Given the description of an element on the screen output the (x, y) to click on. 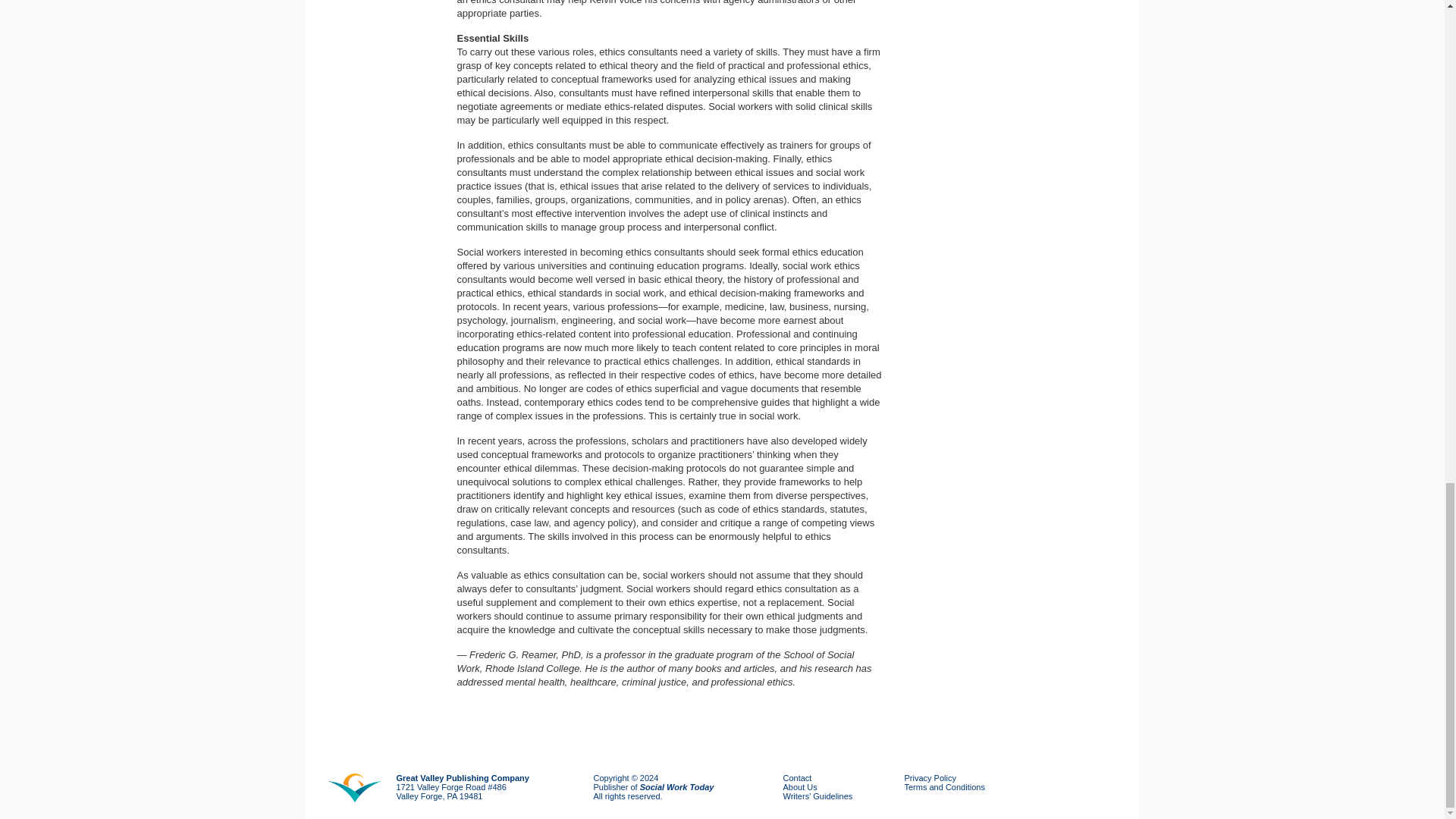
Privacy Policy (929, 777)
About Us (799, 786)
Terms and Conditions (944, 786)
Writers' Guidelines (817, 795)
Contact (796, 777)
